Given the description of an element on the screen output the (x, y) to click on. 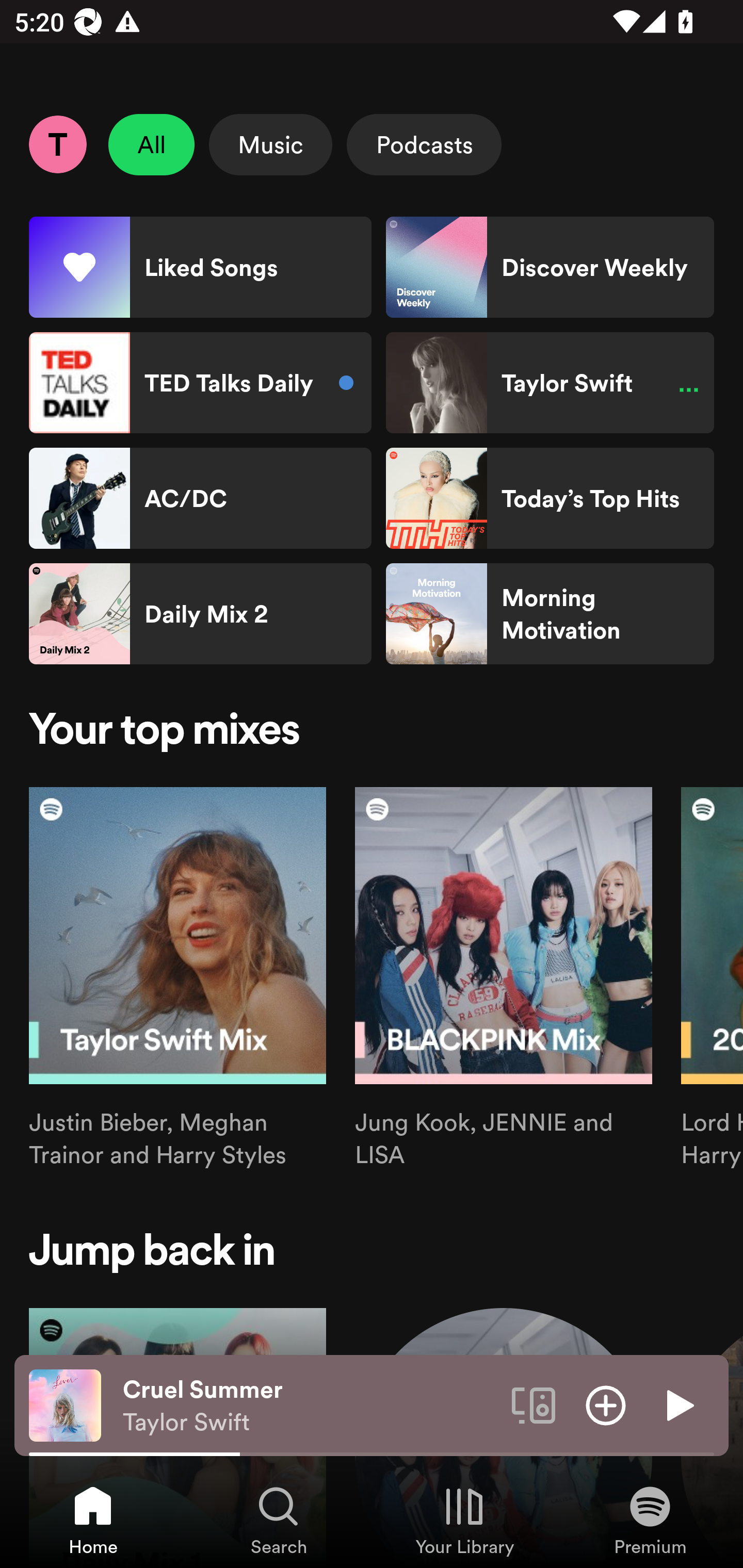
Profile (57, 144)
All Unselect All (151, 144)
Music Select Music (270, 144)
Podcasts Select Podcasts (423, 144)
Liked Songs Shortcut Liked Songs (199, 267)
Discover Weekly Shortcut Discover Weekly (549, 267)
Taylor Swift Shortcut Taylor Swift Paused (549, 382)
AC/DC Shortcut AC/DC (199, 498)
Today’s Top Hits Shortcut Today’s Top Hits (549, 498)
Daily Mix 2 Shortcut Daily Mix 2 (199, 613)
Morning Motivation Shortcut Morning Motivation (549, 613)
Cruel Summer Taylor Swift (309, 1405)
The cover art of the currently playing track (64, 1404)
Connect to a device. Opens the devices menu (533, 1404)
Add item (605, 1404)
Play (677, 1404)
Home, Tab 1 of 4 Home Home (92, 1519)
Search, Tab 2 of 4 Search Search (278, 1519)
Your Library, Tab 3 of 4 Your Library Your Library (464, 1519)
Premium, Tab 4 of 4 Premium Premium (650, 1519)
